Given the description of an element on the screen output the (x, y) to click on. 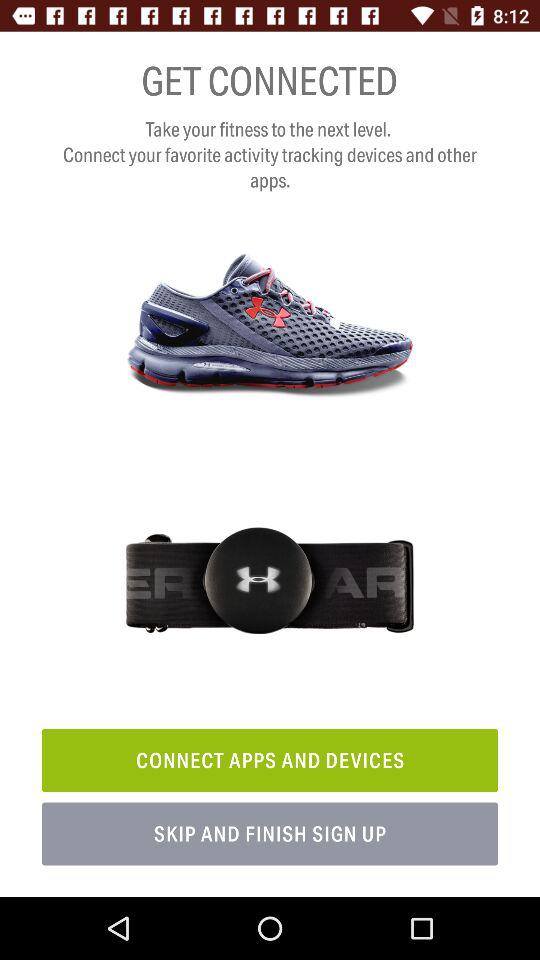
turn on the skip and finish (269, 833)
